Given the description of an element on the screen output the (x, y) to click on. 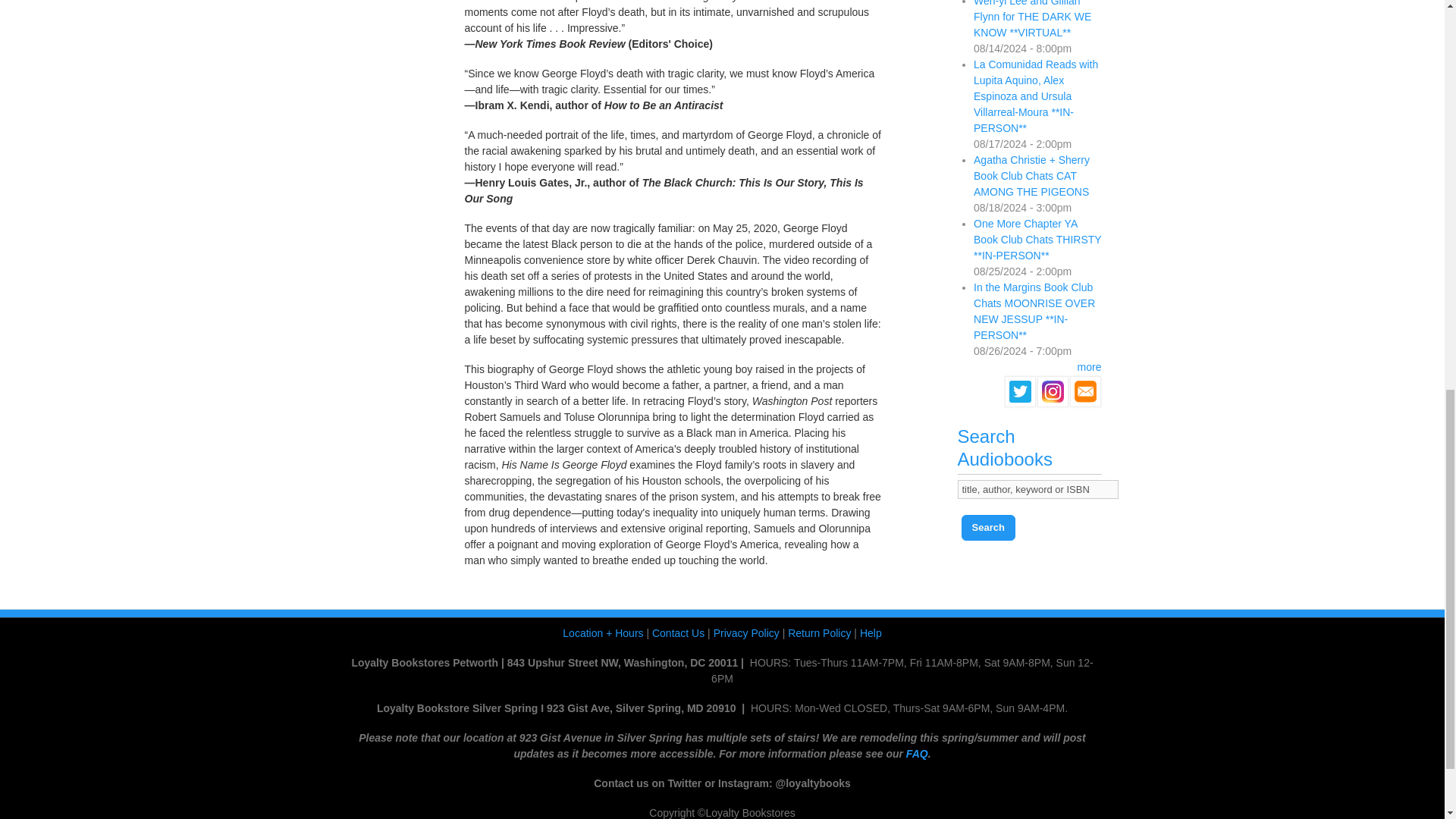
Enter title, author, keyword or ISBN. (1037, 488)
more (1089, 367)
title, author, keyword or ISBN (1037, 488)
Search (987, 527)
